Given the description of an element on the screen output the (x, y) to click on. 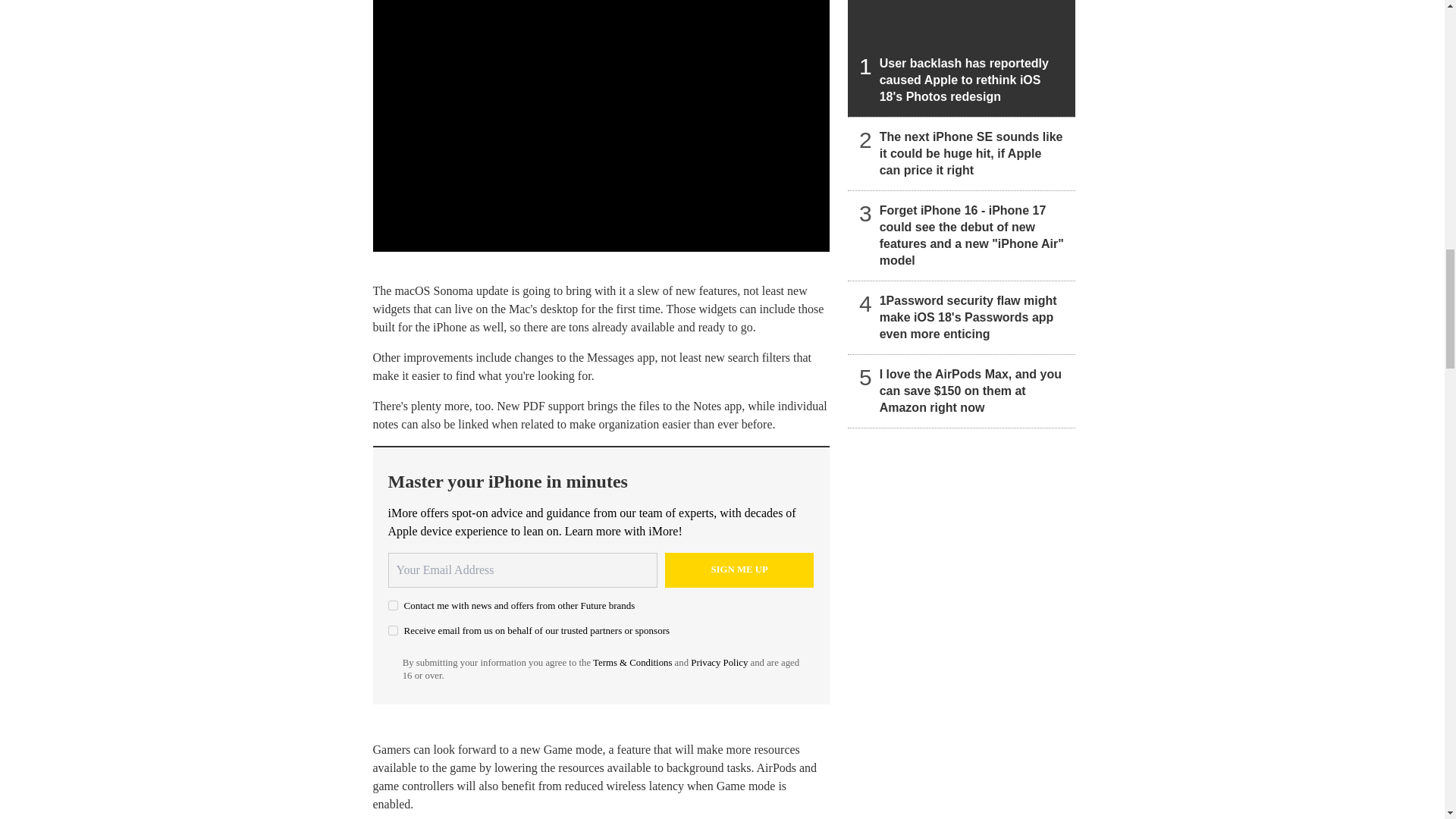
on (392, 605)
Sign me up (739, 570)
on (392, 630)
